Given the description of an element on the screen output the (x, y) to click on. 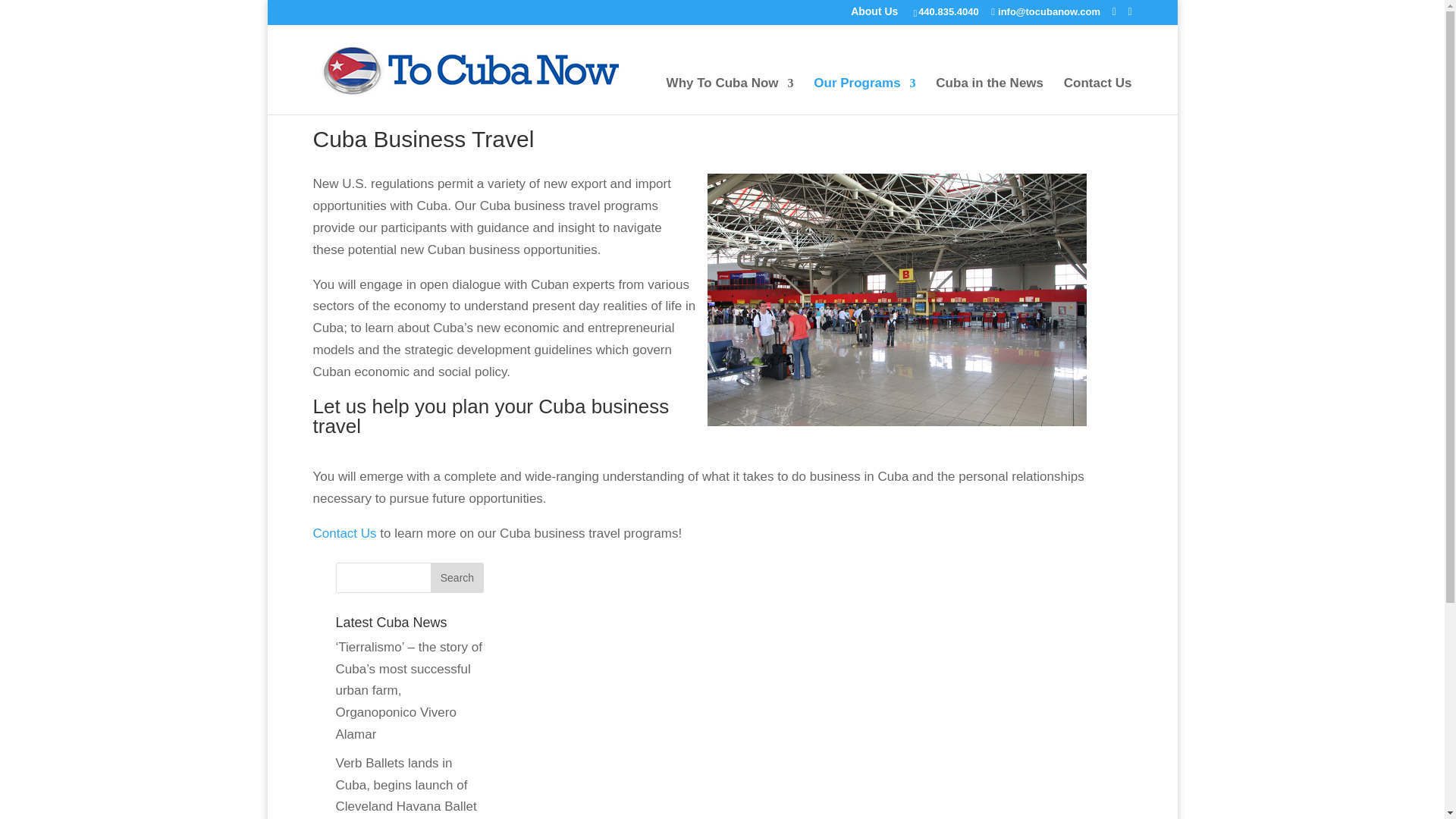
Contact Us (1098, 95)
Cuba in the News (989, 95)
Search (456, 577)
Our Programs (864, 95)
Why To Cuba Now (729, 95)
About Us (874, 15)
